Given the description of an element on the screen output the (x, y) to click on. 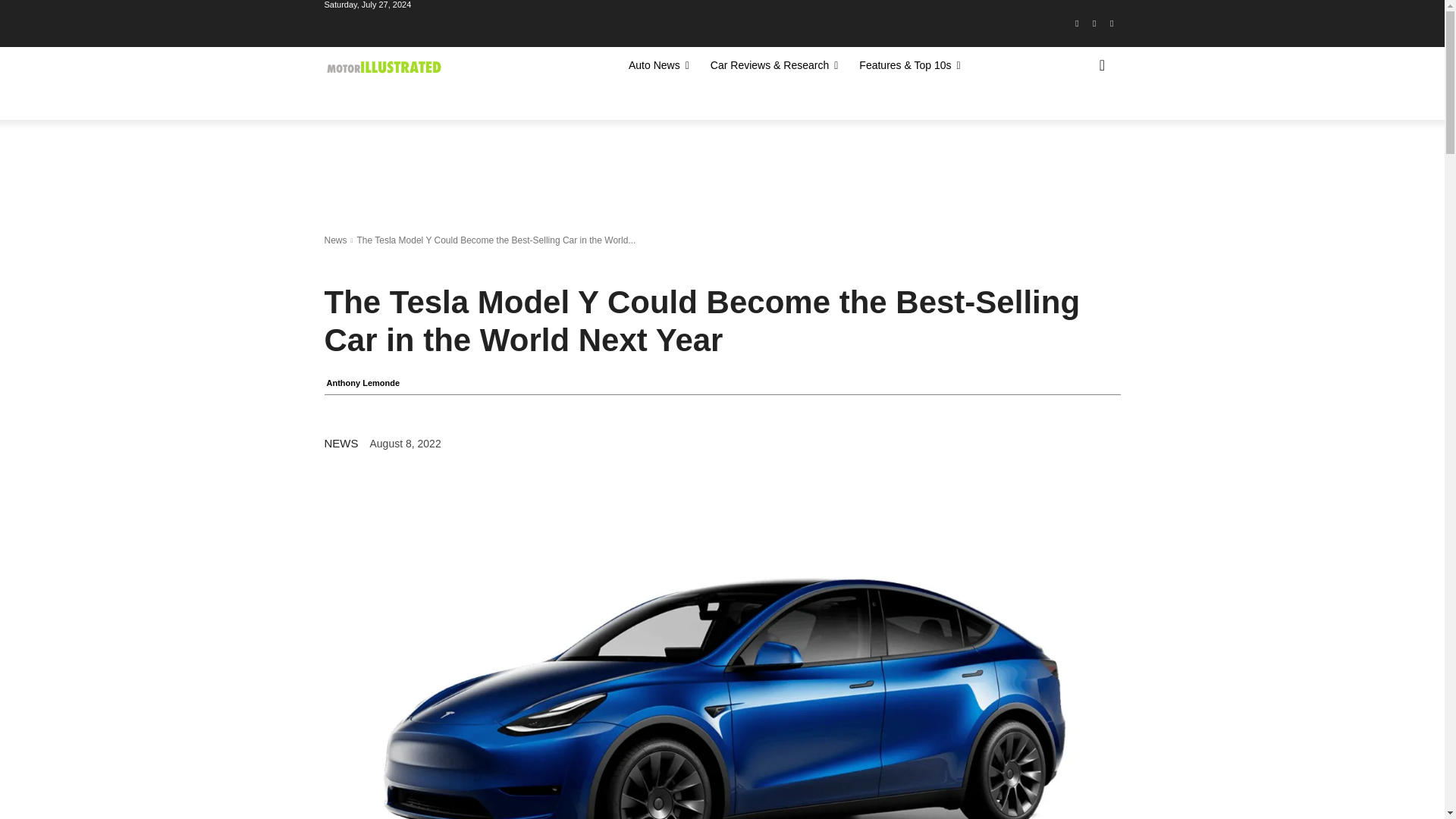
View all posts in News (335, 240)
Youtube (1112, 23)
Advertisement (600, 172)
Auto News (658, 64)
Facebook (1077, 23)
Instagram (1094, 23)
